Given the description of an element on the screen output the (x, y) to click on. 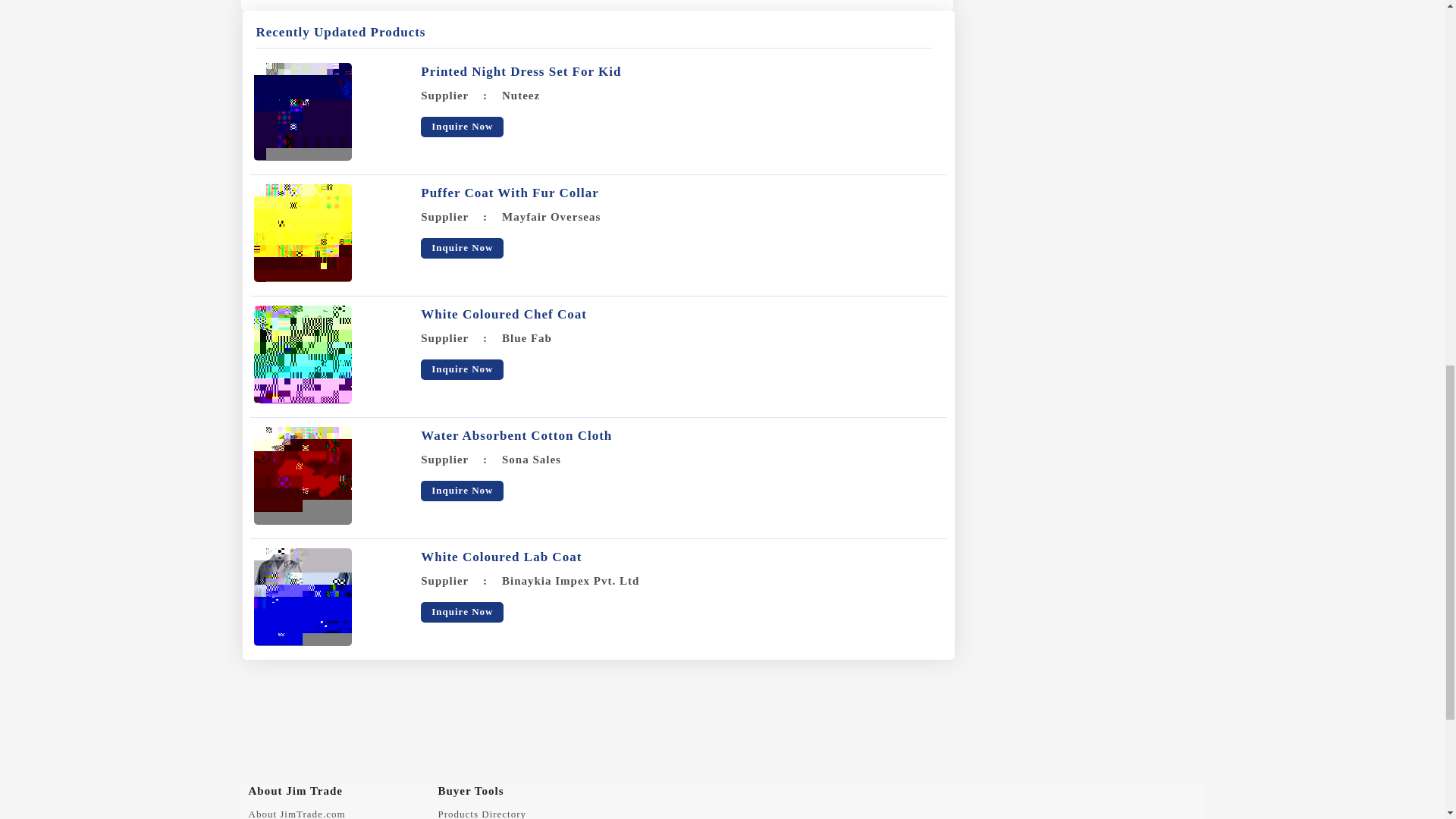
White Coloured Chef Coat (301, 354)
White Coloured Lab Coat (500, 556)
Puffer Coat With Fur Collar (301, 232)
Puffer Coat With Fur Collar (509, 192)
Products Directory (482, 813)
Water Absorbent Cotton Cloth (301, 475)
Inquire Now (461, 490)
About JimTrade.com (297, 813)
Inquire Now (461, 611)
Inquire Now (461, 127)
